Given the description of an element on the screen output the (x, y) to click on. 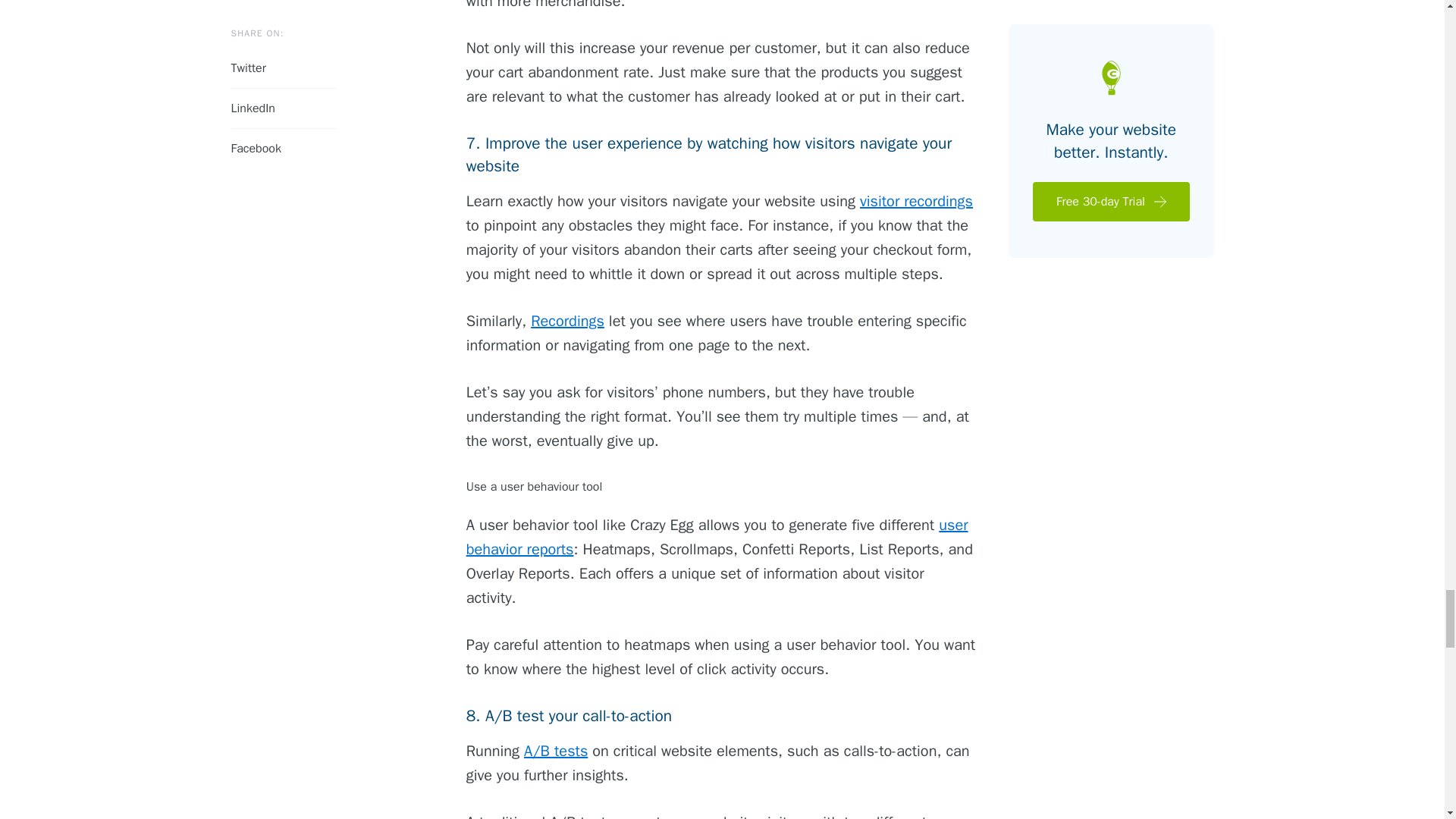
Recordings (567, 321)
user behavior reports (716, 536)
visitor recordings (916, 200)
